Given the description of an element on the screen output the (x, y) to click on. 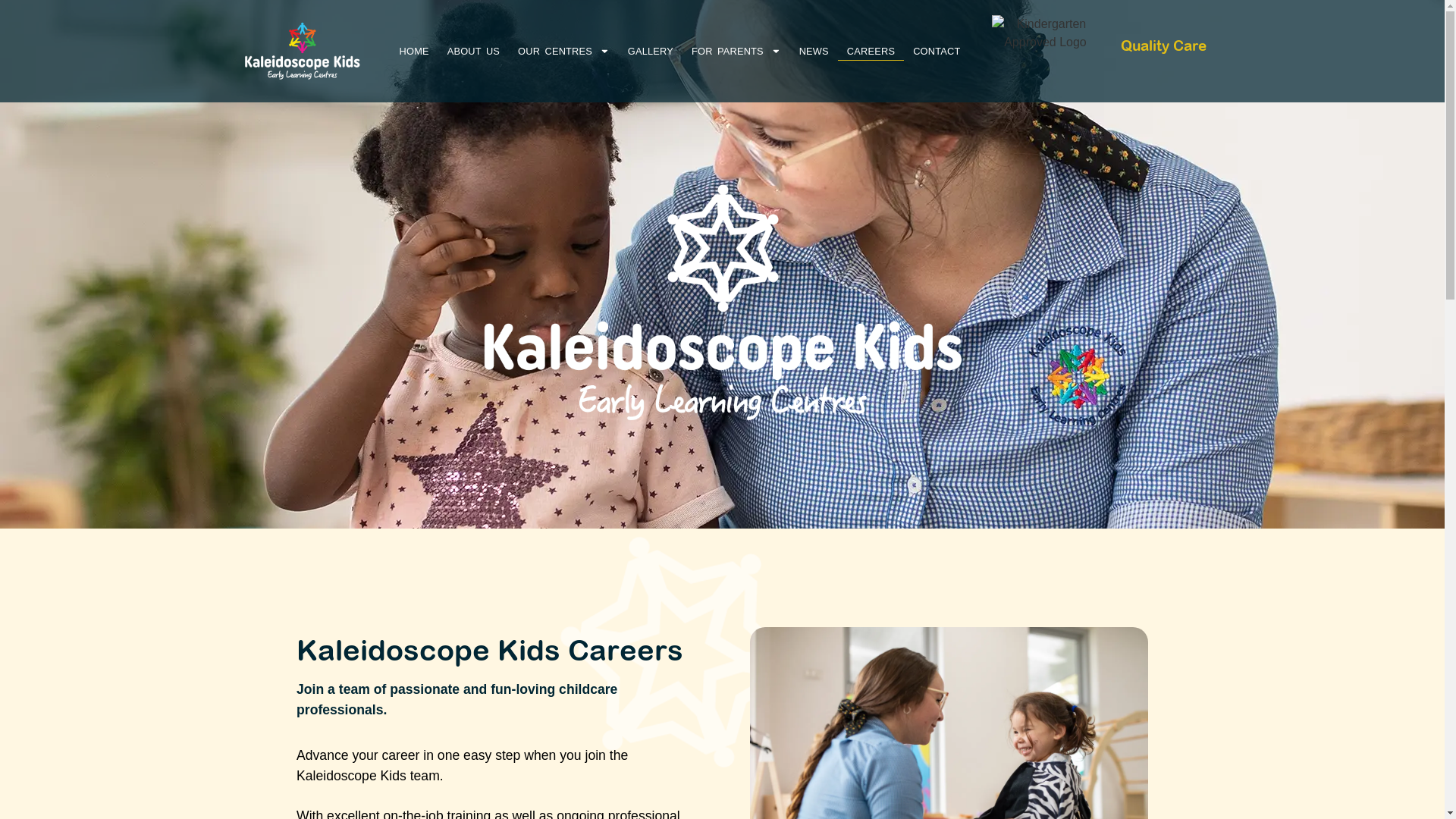
GALLERY Element type: text (650, 51)
CONTACT Element type: text (936, 51)
NEWS Element type: text (813, 51)
CAREERS Element type: text (870, 51)
OUR CENTRES Element type: text (563, 51)
FOR PARENTS Element type: text (736, 51)
HOME Element type: text (414, 51)
ABOUT US Element type: text (473, 51)
